Given the description of an element on the screen output the (x, y) to click on. 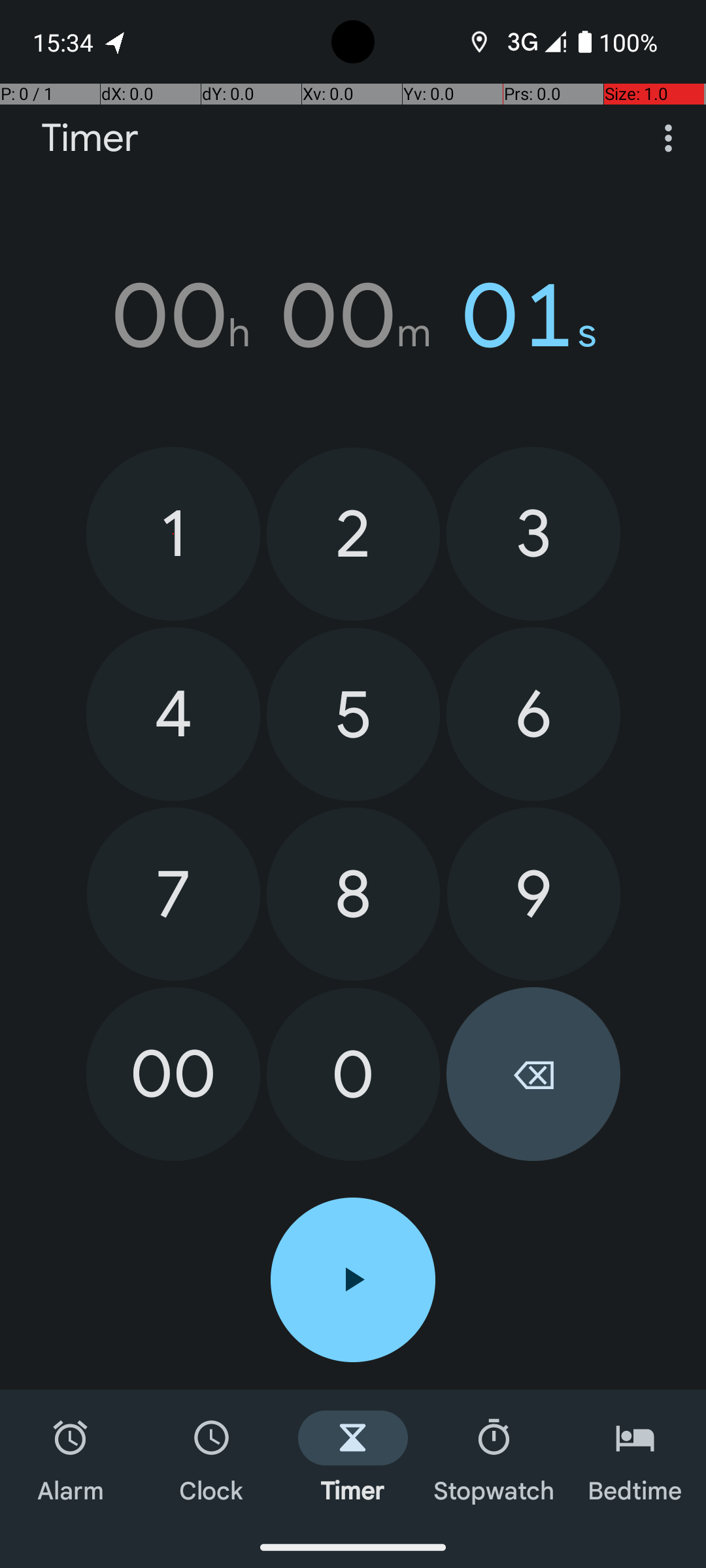
00h 00m 01s Element type: android.widget.TextView (353, 315)
